Given the description of an element on the screen output the (x, y) to click on. 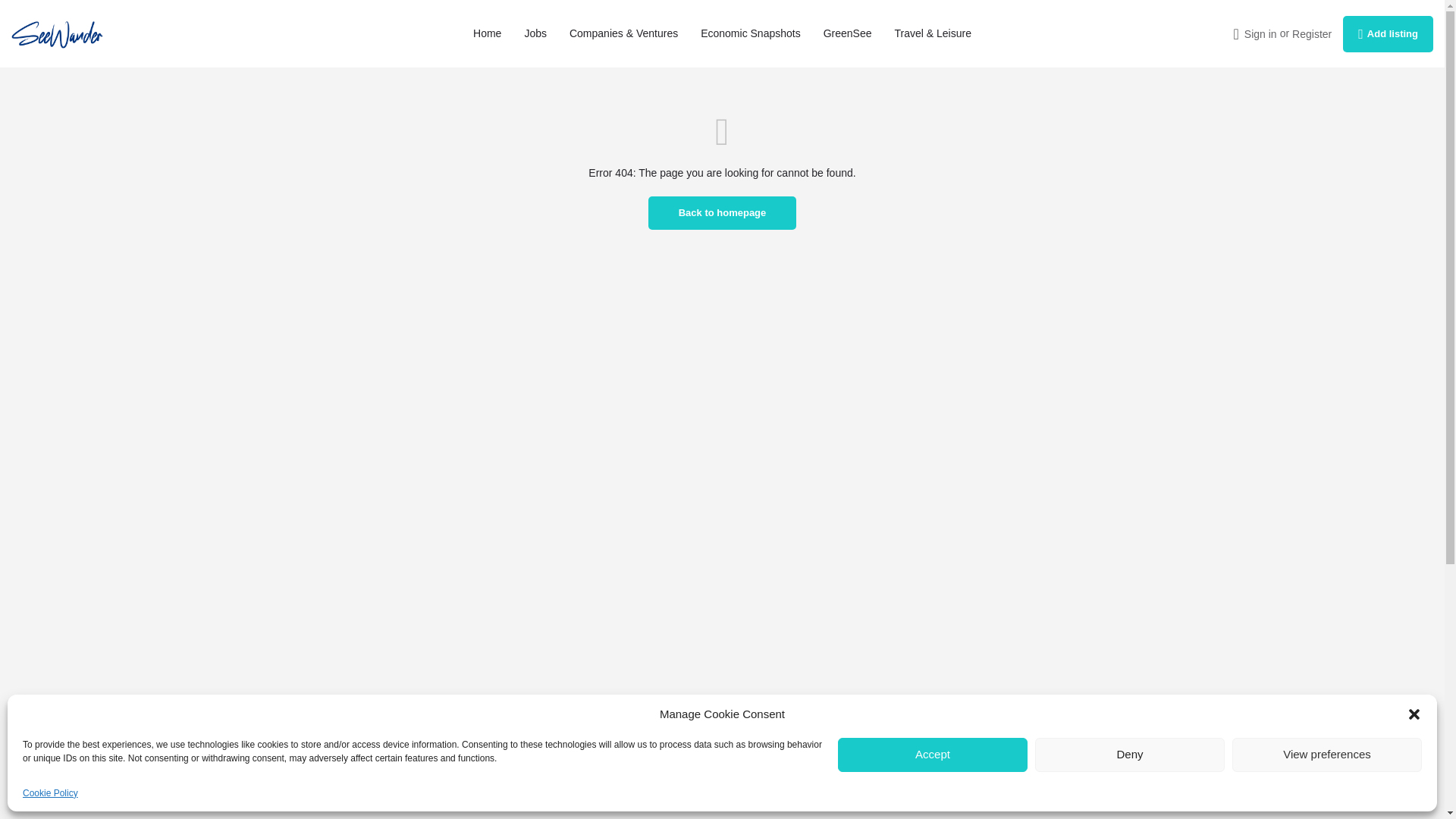
Back to homepage (721, 213)
Economic Snapshots (750, 32)
Home (486, 32)
Add listing (1387, 33)
Sign in (1260, 33)
View preferences (1326, 754)
GreenSee (848, 32)
Jobs (535, 32)
Register (1312, 33)
Deny (1129, 754)
Accept (932, 754)
Cookie Policy (50, 793)
